Given the description of an element on the screen output the (x, y) to click on. 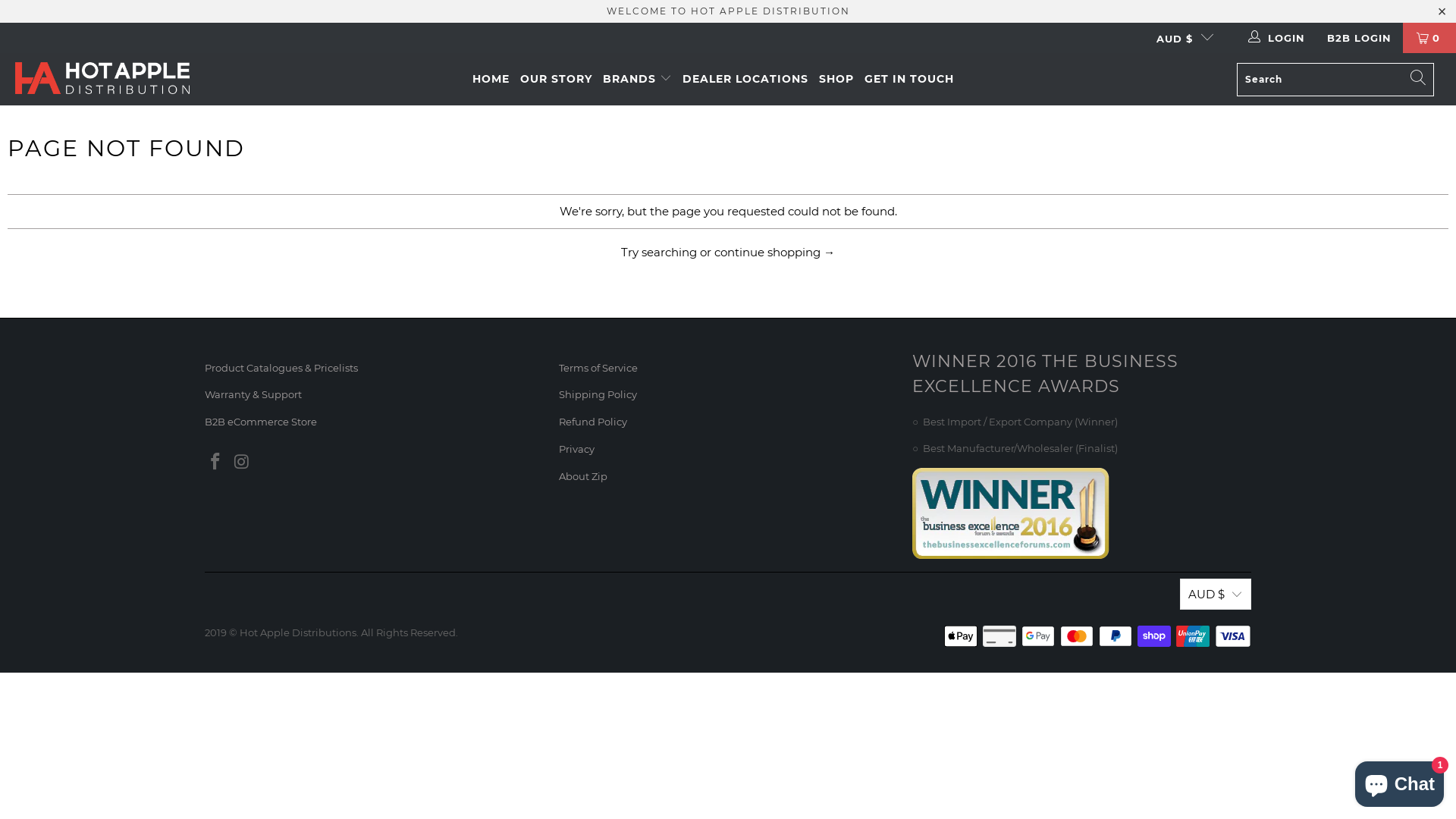
Hot Apple Distribution on Facebook Element type: hover (215, 462)
Shipping Policy Element type: text (597, 394)
SHOP Element type: text (836, 78)
AUD $ Element type: text (1178, 37)
HOME Element type: text (490, 78)
LOGIN Element type: text (1277, 37)
Hot Apple Distribution on Instagram Element type: hover (242, 462)
DEALER LOCATIONS Element type: text (745, 78)
B2B LOGIN Element type: text (1359, 37)
Warranty & Support Element type: text (252, 394)
B2B eCommerce Store Element type: text (260, 421)
OUR STORY Element type: text (556, 78)
Hot Apple Distribution Element type: hover (102, 79)
AUD $ Element type: text (1215, 593)
BRANDS Element type: text (636, 78)
Product Catalogues & Pricelists Element type: text (280, 366)
Refund Policy Element type: text (592, 421)
Privacy Element type: text (576, 448)
Terms of Service Element type: text (597, 366)
Shopify online store chat Element type: hover (1399, 780)
GET IN TOUCH Element type: text (908, 78)
About Zip Element type: text (582, 476)
